Given the description of an element on the screen output the (x, y) to click on. 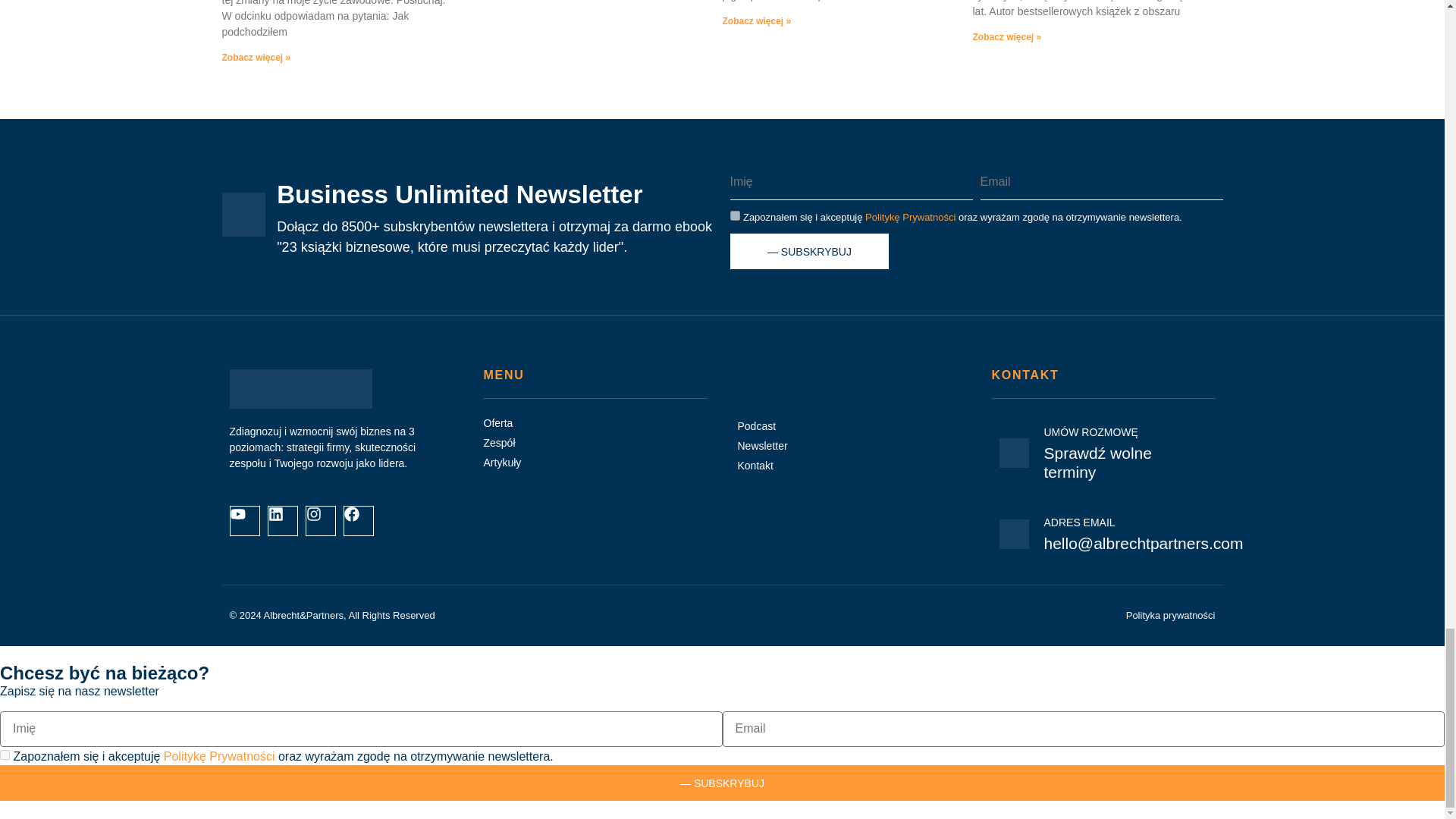
on (5, 755)
on (734, 215)
